Given the description of an element on the screen output the (x, y) to click on. 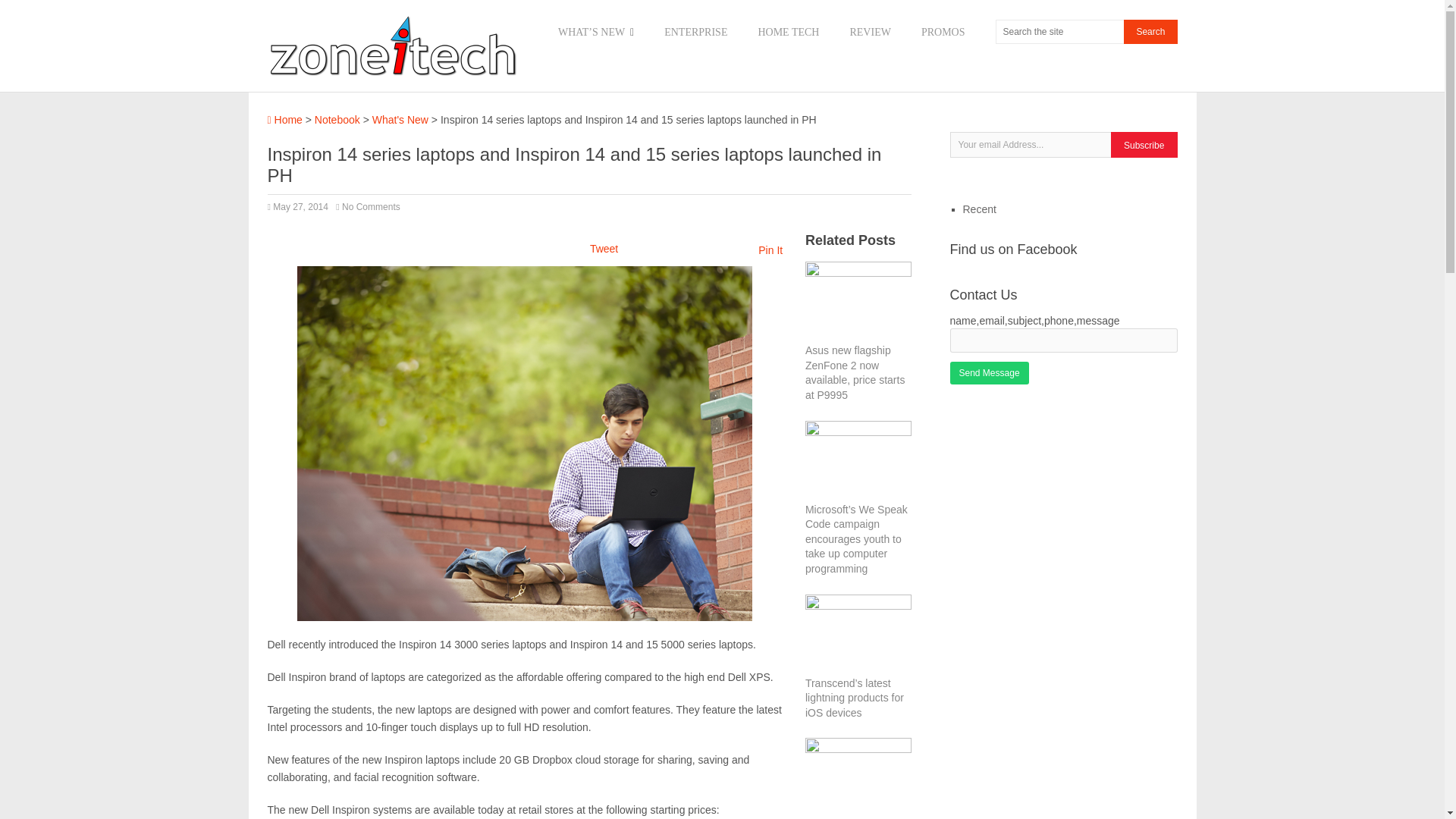
No Comments (371, 206)
PROMOS (943, 32)
What's New (400, 119)
Send Message (988, 372)
Recent (978, 209)
Pin It (770, 250)
Search (1150, 31)
Tweet (603, 248)
HOME TECH (787, 32)
